Given the description of an element on the screen output the (x, y) to click on. 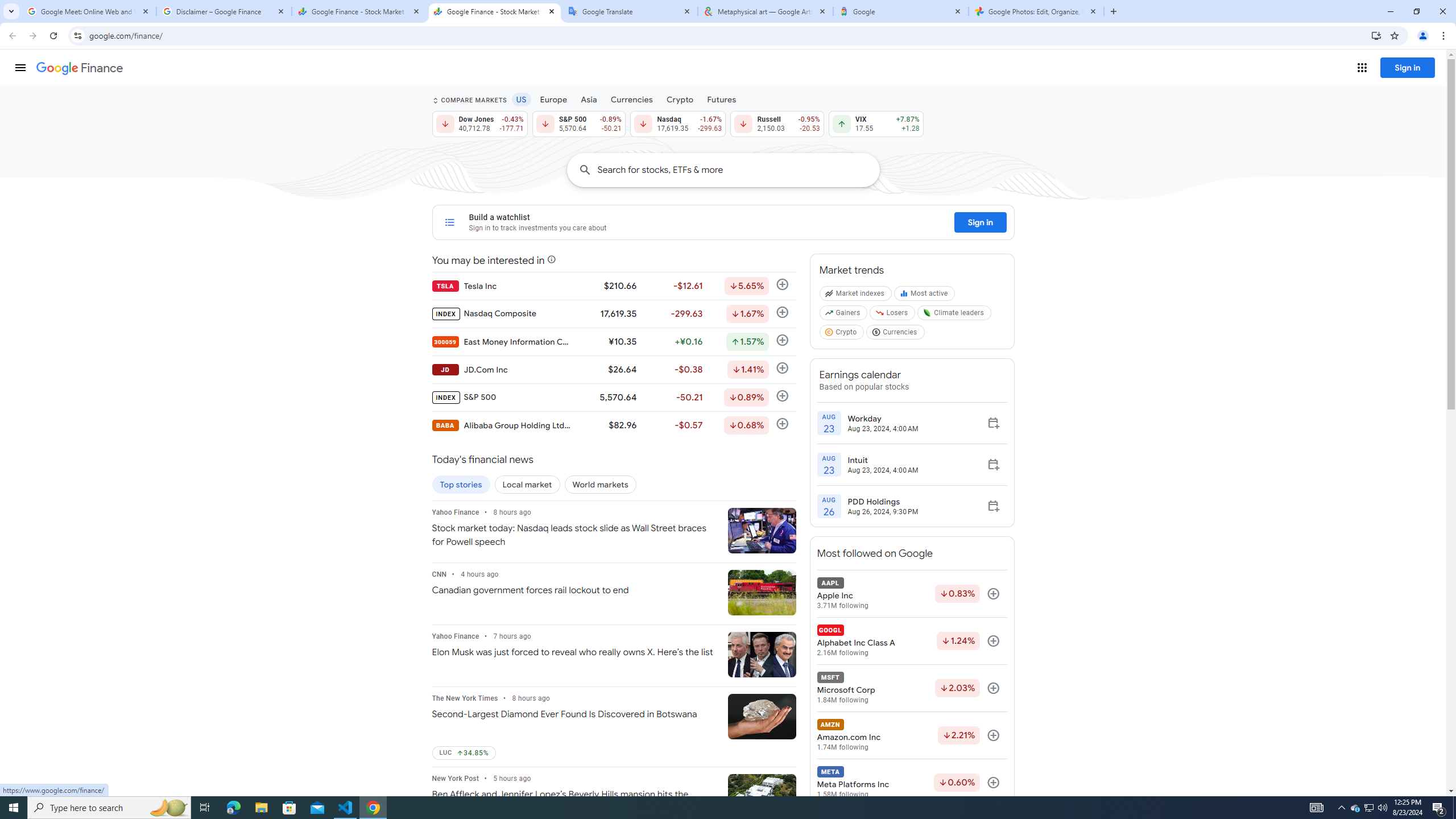
Add to calendar (993, 506)
Dow Jones 40,712.78 Down by 0.43% -177.71 (478, 123)
Intuit (882, 460)
Search for stocks, ETFs & more (737, 169)
Local market (526, 484)
META Meta Platforms Inc 1.58M following Down by 0.60% Follow (911, 782)
Follow (993, 782)
LUC Up by 34.85% (463, 753)
